Given the description of an element on the screen output the (x, y) to click on. 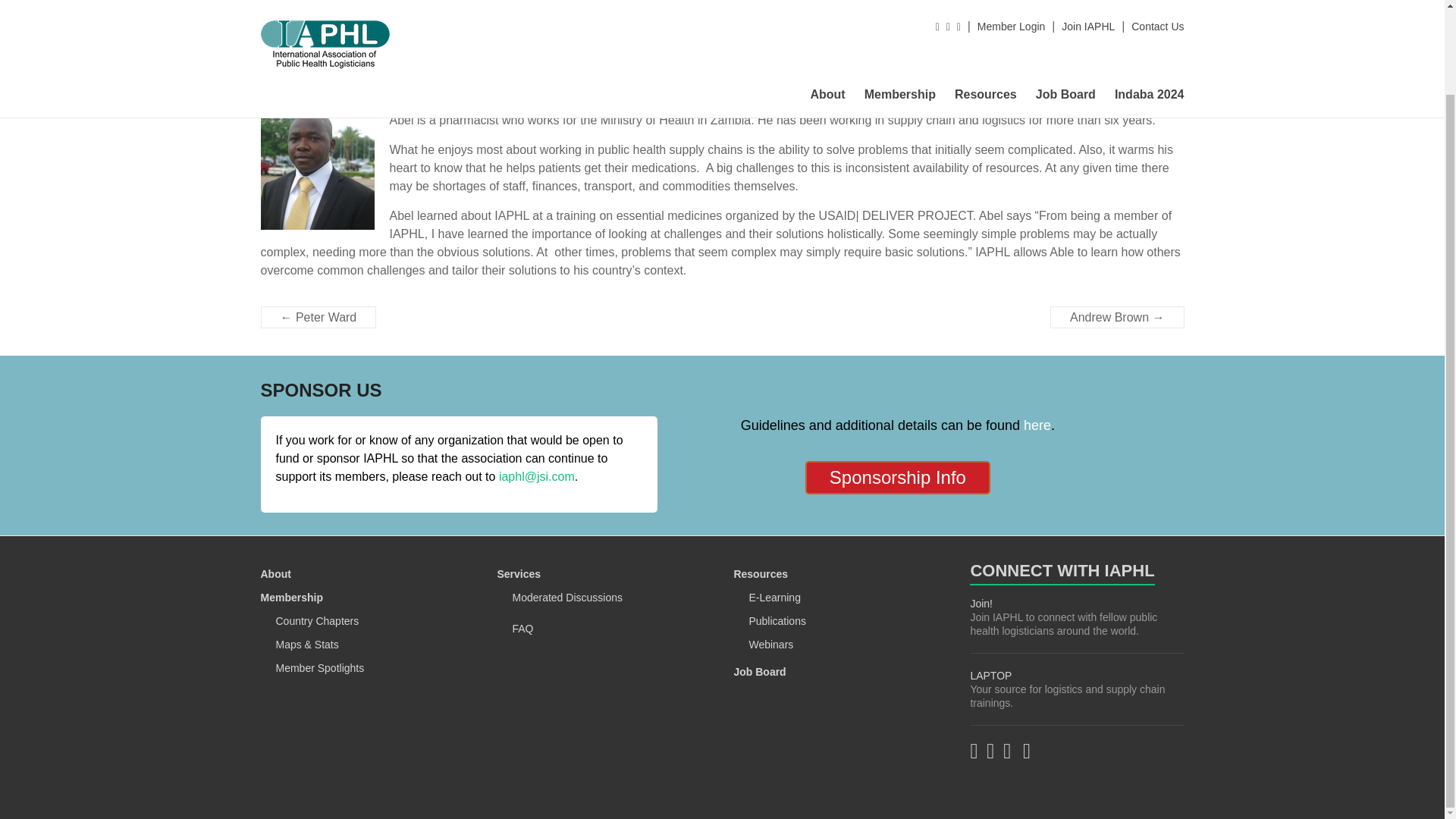
Member spotlights (1089, 50)
Country Chapters (317, 621)
Go to Member spotlights. (1089, 50)
Resources (760, 573)
Membership (291, 597)
Moderated Discussions (567, 597)
Sponsorship Info (897, 477)
About (826, 4)
Member Spotlights (320, 667)
Job Board (1065, 4)
Indaba 2024 (1150, 4)
here (1037, 425)
Services (518, 573)
Go to IAPHL. (1029, 50)
IAPHL (1029, 50)
